Given the description of an element on the screen output the (x, y) to click on. 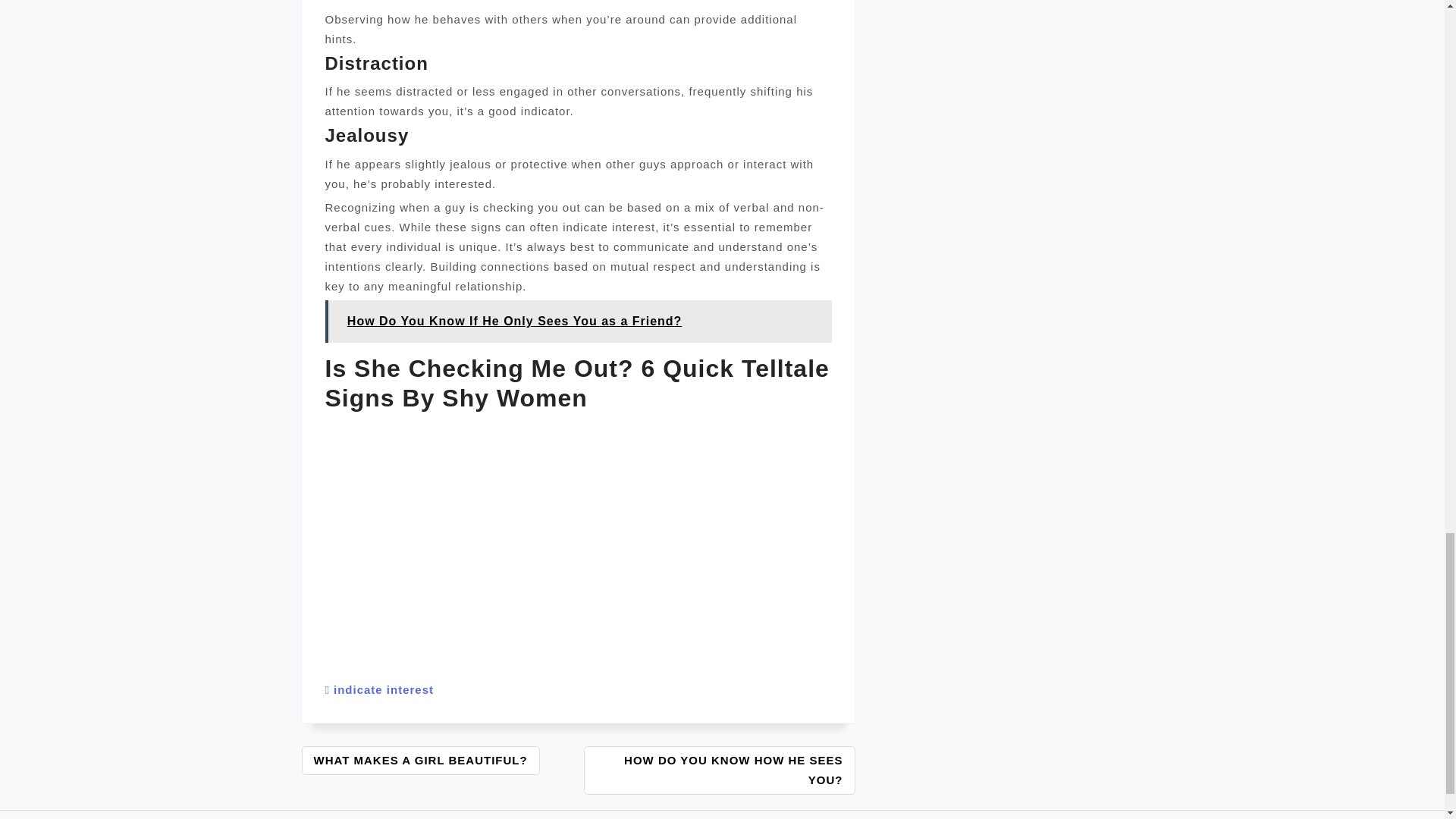
HOW DO YOU KNOW HOW HE SEES YOU? (719, 770)
WHAT MAKES A GIRL BEAUTIFUL? (420, 760)
  How Do You Know If He Only Sees You as a Friend? (577, 321)
indicate interest (383, 689)
